Given the description of an element on the screen output the (x, y) to click on. 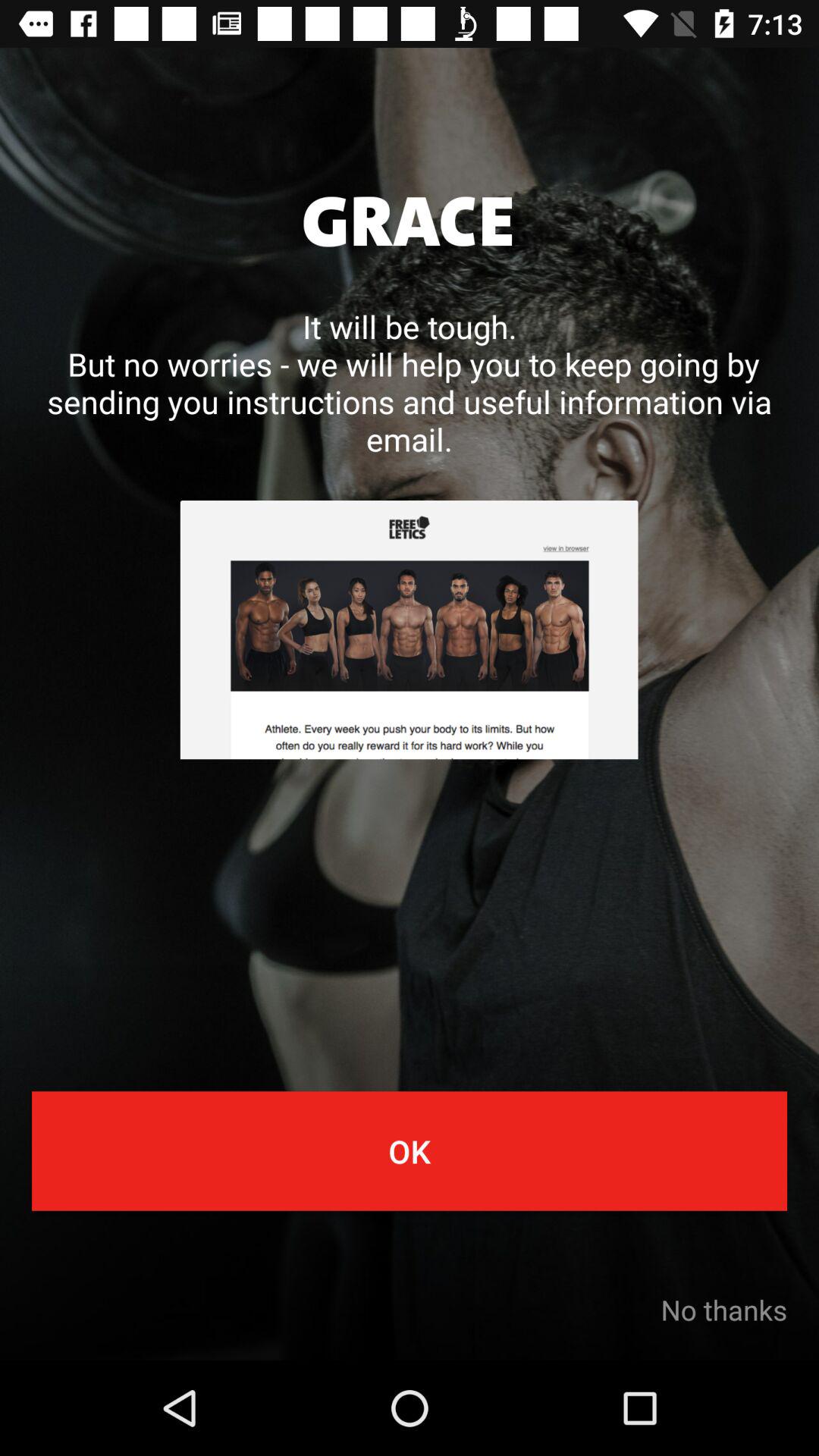
launch no thanks at the bottom right corner (723, 1309)
